Given the description of an element on the screen output the (x, y) to click on. 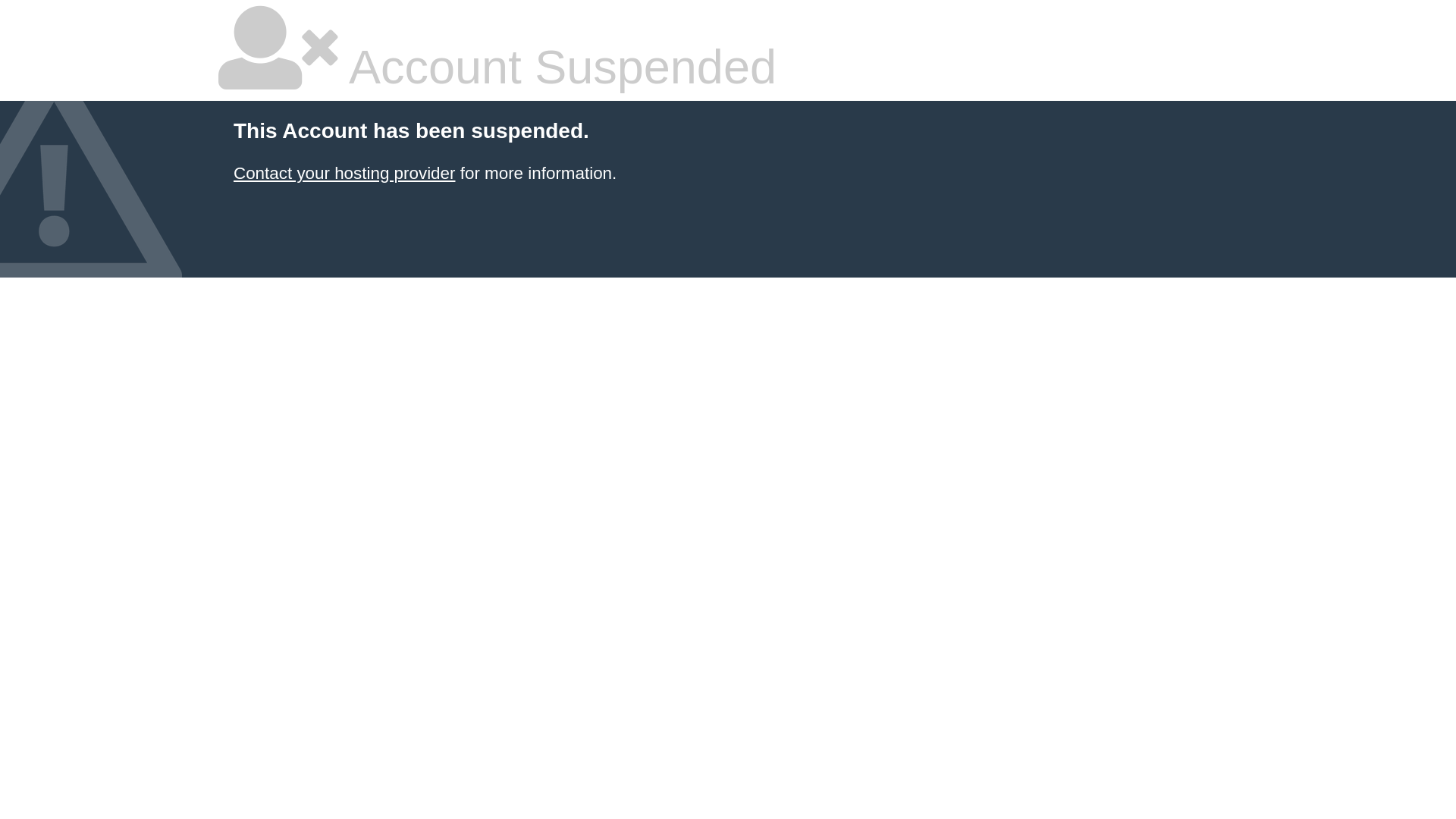
Contact your hosting provider Element type: text (344, 172)
